Given the description of an element on the screen output the (x, y) to click on. 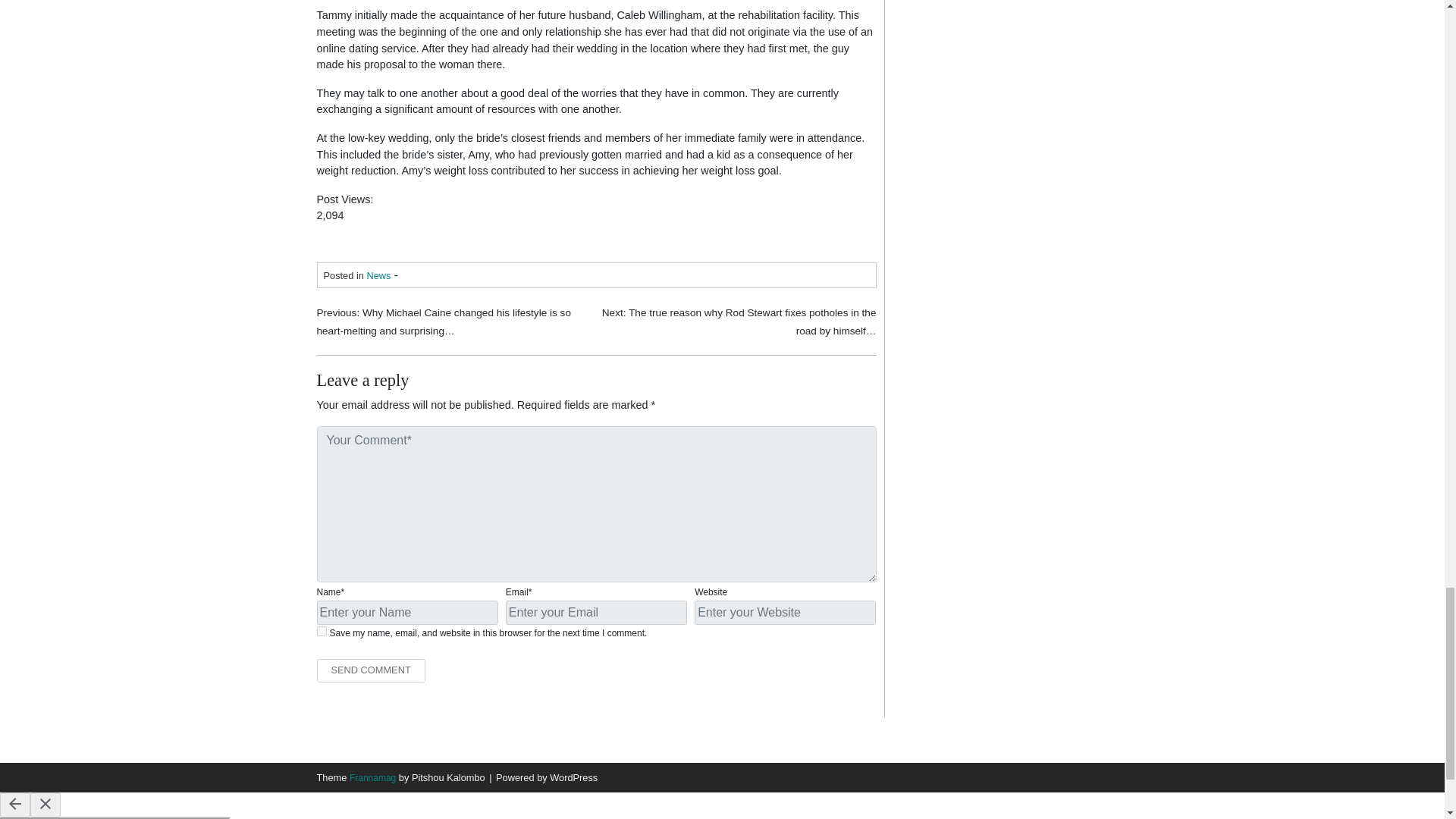
Send Comment (371, 670)
yes (321, 631)
News (378, 275)
Frannamag (372, 777)
Send Comment (371, 670)
